Given the description of an element on the screen output the (x, y) to click on. 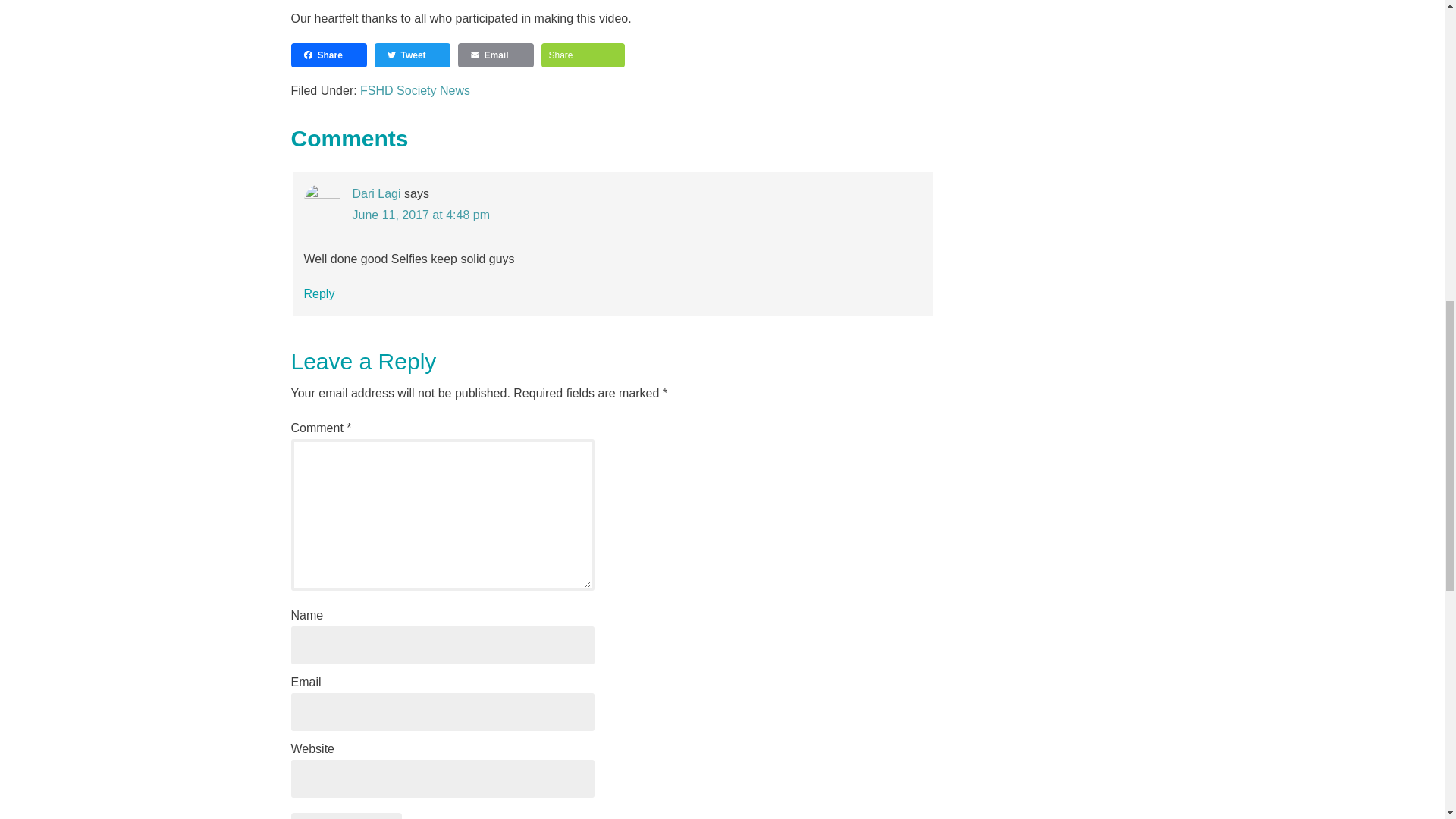
Post Comment (346, 816)
